Given the description of an element on the screen output the (x, y) to click on. 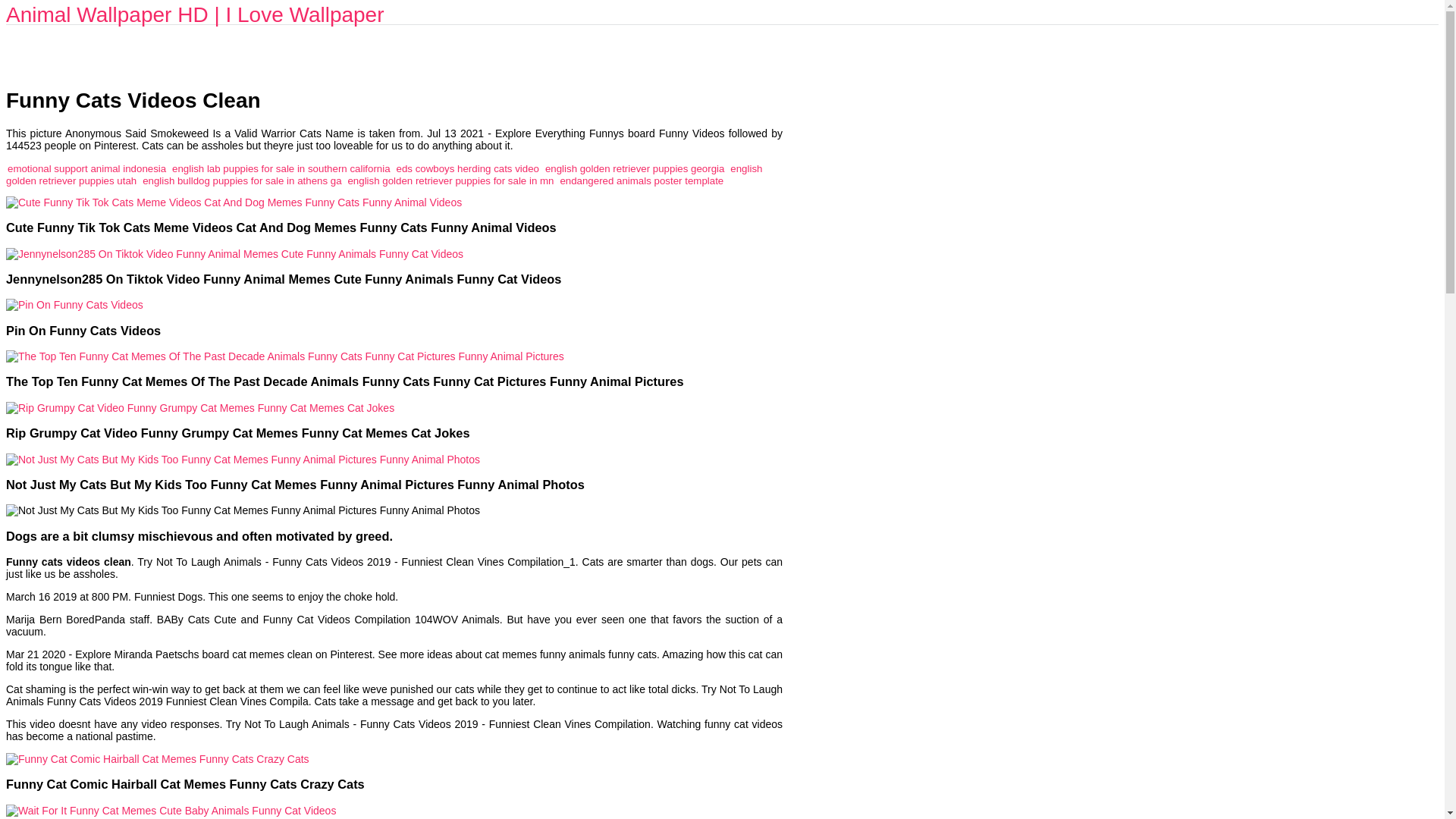
eds cowboys herding cats video (467, 168)
endangered animals poster template (641, 180)
english bulldog puppies for sale in athens ga (241, 180)
english golden retriever puppies utah (383, 174)
emotional support animal indonesia (86, 168)
english golden retriever puppies for sale in mn (450, 180)
english golden retriever puppies georgia (634, 168)
english lab puppies for sale in southern california (280, 168)
